Given the description of an element on the screen output the (x, y) to click on. 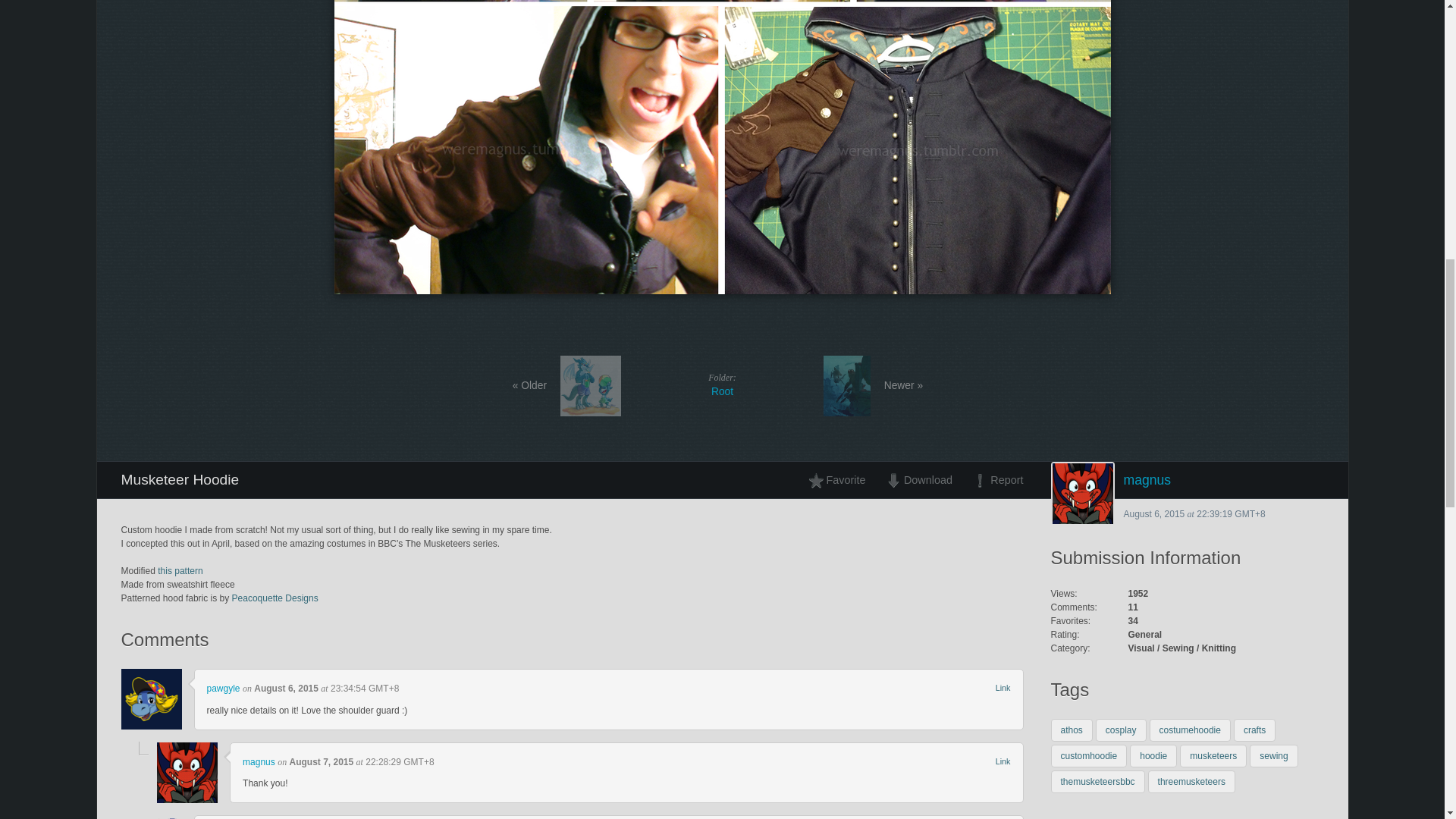
Download (918, 479)
themusketeersbbc (1097, 781)
magnus (1187, 479)
Report (993, 479)
athos (1072, 730)
cosplay (1121, 730)
Favorite (841, 479)
Peacoquette Designs (274, 597)
musketeers (1212, 755)
sewing (1273, 755)
threemusketeers (1191, 781)
crafts (1254, 730)
customhoodie (721, 384)
this pattern (1088, 755)
